Given the description of an element on the screen output the (x, y) to click on. 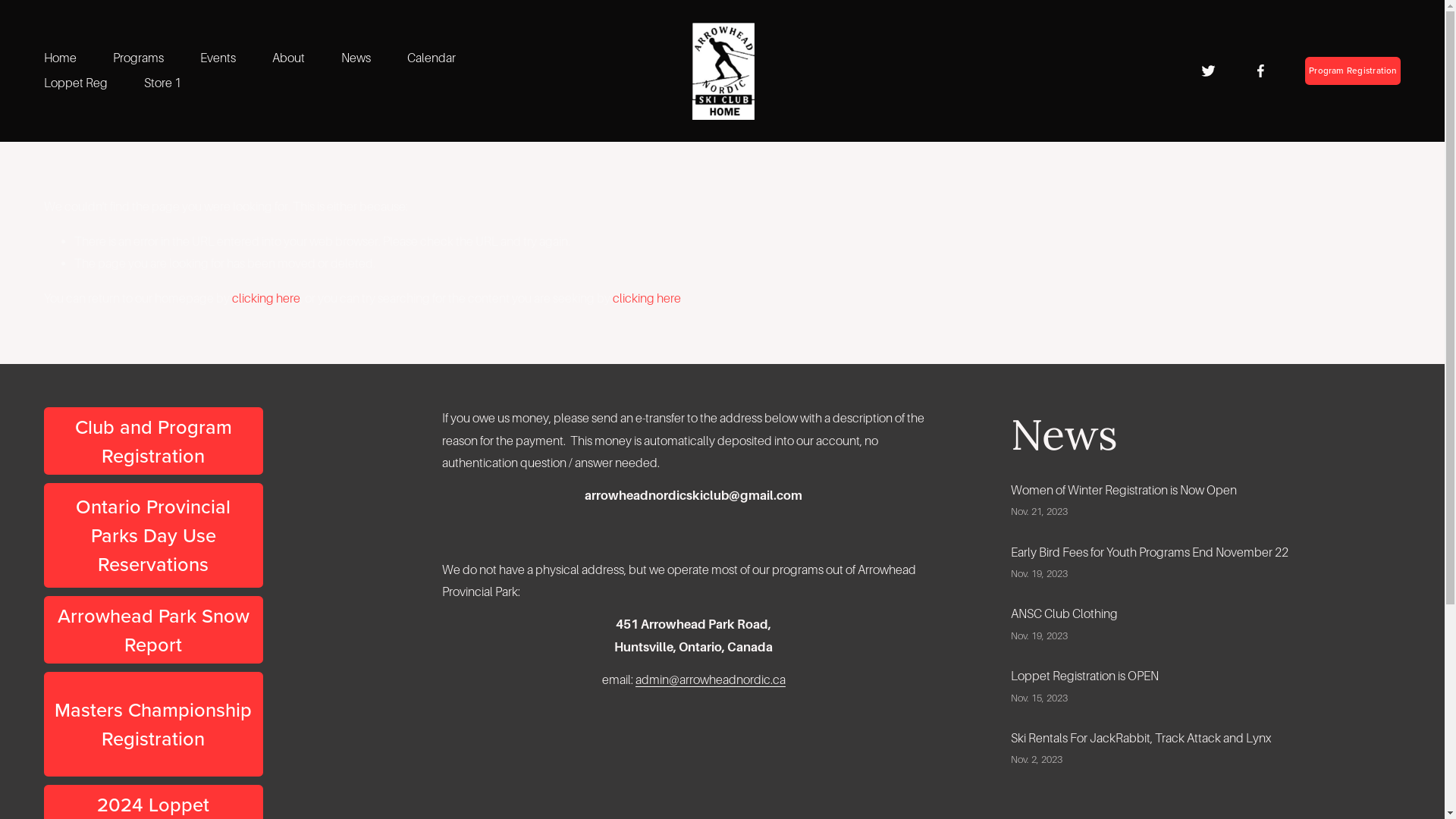
Club and Program Registration Element type: text (153, 440)
Ontario Provincial Parks Day Use Reservations Element type: text (153, 535)
Loppet Registration is OPEN Element type: text (1084, 675)
Program Registration Element type: text (1352, 70)
Home Element type: text (59, 58)
Events Element type: text (217, 58)
Loppet Reg Element type: text (75, 82)
Arrowhead Park Snow Report Element type: text (153, 629)
Women of Winter Registration is Now Open Element type: text (1123, 490)
Masters Championship Registration Element type: text (153, 723)
About Element type: text (288, 58)
Early Bird Fees for Youth Programs End November 22 Element type: text (1149, 552)
Ski Rentals For JackRabbit, Track Attack and Lynx Element type: text (1140, 738)
Store 1 Element type: text (162, 82)
ANSC Club Clothing Element type: text (1063, 613)
Programs Element type: text (137, 58)
clicking here Element type: text (266, 298)
clicking here Element type: text (646, 298)
News Element type: text (355, 58)
Calendar Element type: text (431, 58)
admin@arrowheadnordic.ca Element type: text (710, 679)
